Given the description of an element on the screen output the (x, y) to click on. 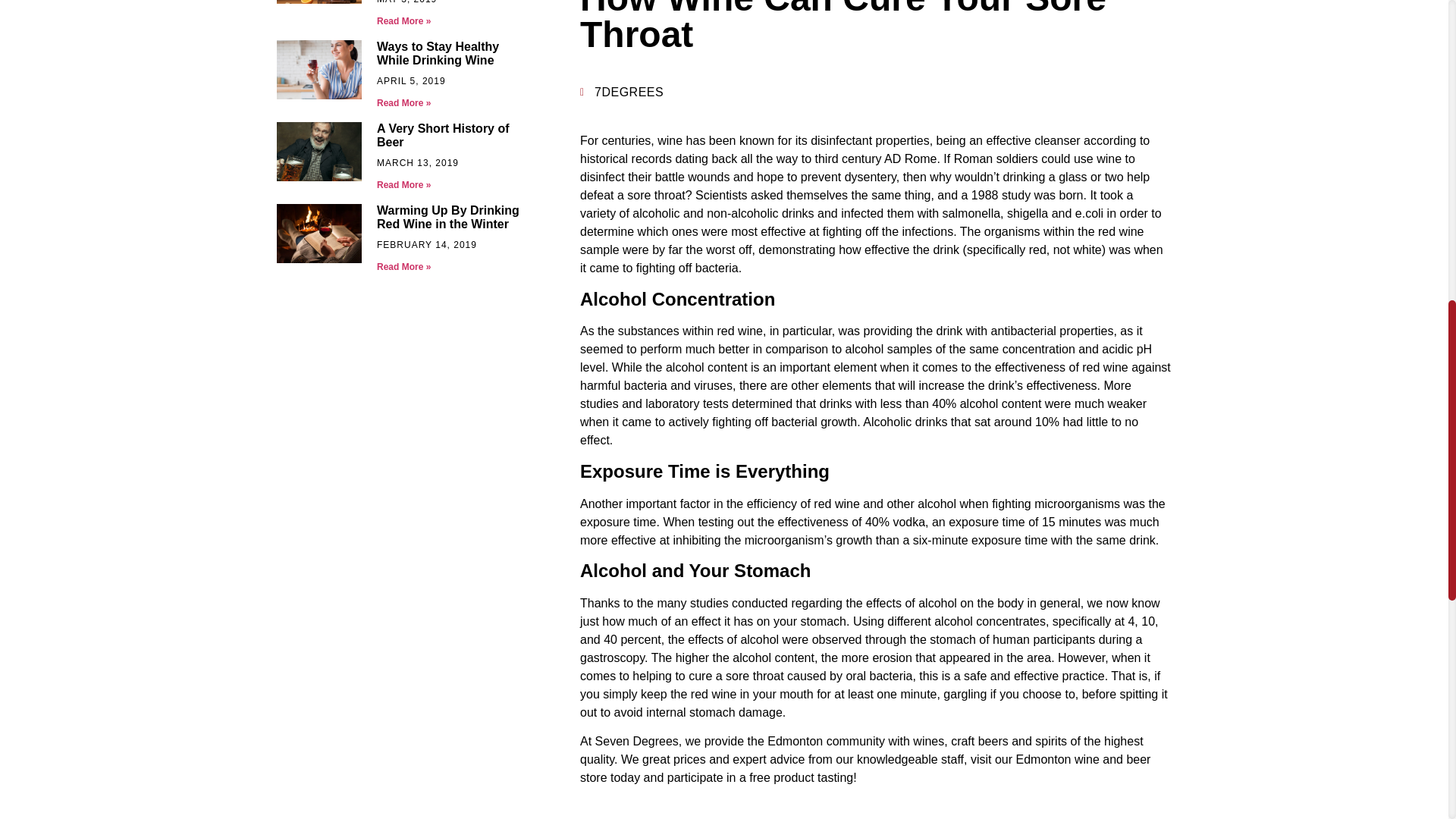
Warming Up By Drinking Red Wine in the Winter (448, 216)
A Very Short History of Beer (443, 135)
Ways to Stay Healthy While Drinking Wine (438, 53)
